Given the description of an element on the screen output the (x, y) to click on. 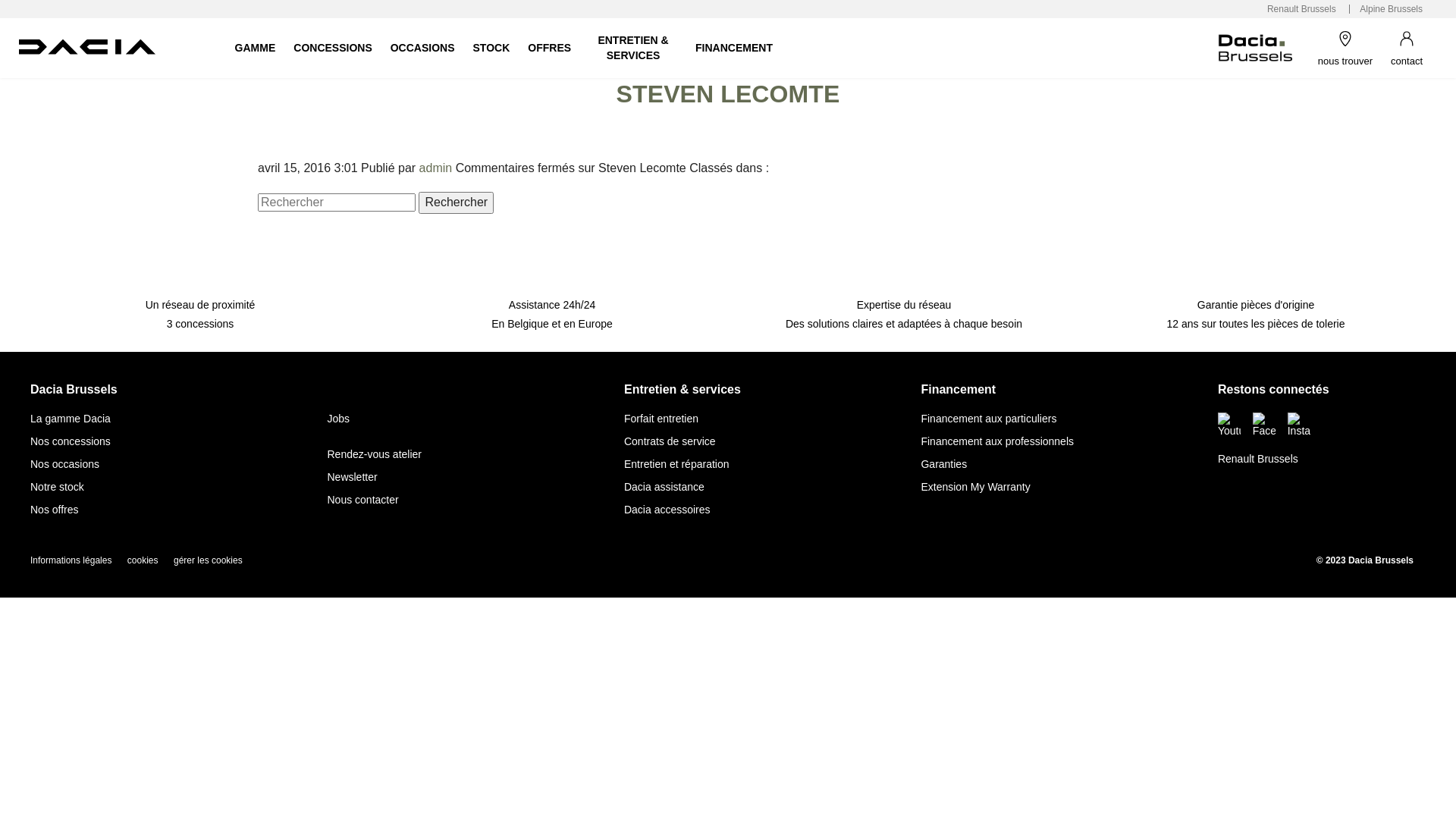
CONCESSIONS Element type: text (332, 47)
STOCK Element type: text (491, 47)
Nos concessions Element type: text (70, 441)
GAMME Element type: text (255, 47)
FINANCEMENT Element type: text (733, 47)
Extension My Warranty Element type: text (974, 486)
OCCASIONS Element type: text (422, 47)
Dacia accessoires Element type: text (667, 509)
Renault Brussels Element type: text (1257, 458)
Assistance 24h/24
En Belgique et en Europe Element type: text (552, 299)
admin Element type: text (435, 167)
Financement aux professionnels Element type: text (996, 441)
Rendez-vous atelier Element type: text (373, 454)
Newsletter Element type: text (351, 476)
Alpine Brussels Element type: text (1391, 9)
La gamme Dacia Element type: text (70, 418)
Garanties Element type: text (943, 464)
Notre stock Element type: text (57, 486)
Contrats de service Element type: text (669, 441)
STEVEN LECOMTE Element type: text (728, 93)
Rechercher Element type: text (455, 202)
OFFRES Element type: text (549, 47)
Financement aux particuliers Element type: text (988, 418)
cookies Element type: text (142, 560)
Jobs Element type: text (337, 418)
Dacia assistance Element type: text (664, 486)
Forfait entretien Element type: text (661, 418)
Nous contacter Element type: text (362, 499)
Nos occasions Element type: text (64, 464)
Nos offres Element type: text (54, 509)
nous trouver Element type: text (1344, 47)
Renault Brussels Element type: text (1301, 9)
ENTRETIEN & SERVICES Element type: text (633, 47)
contact Element type: text (1406, 47)
